Given the description of an element on the screen output the (x, y) to click on. 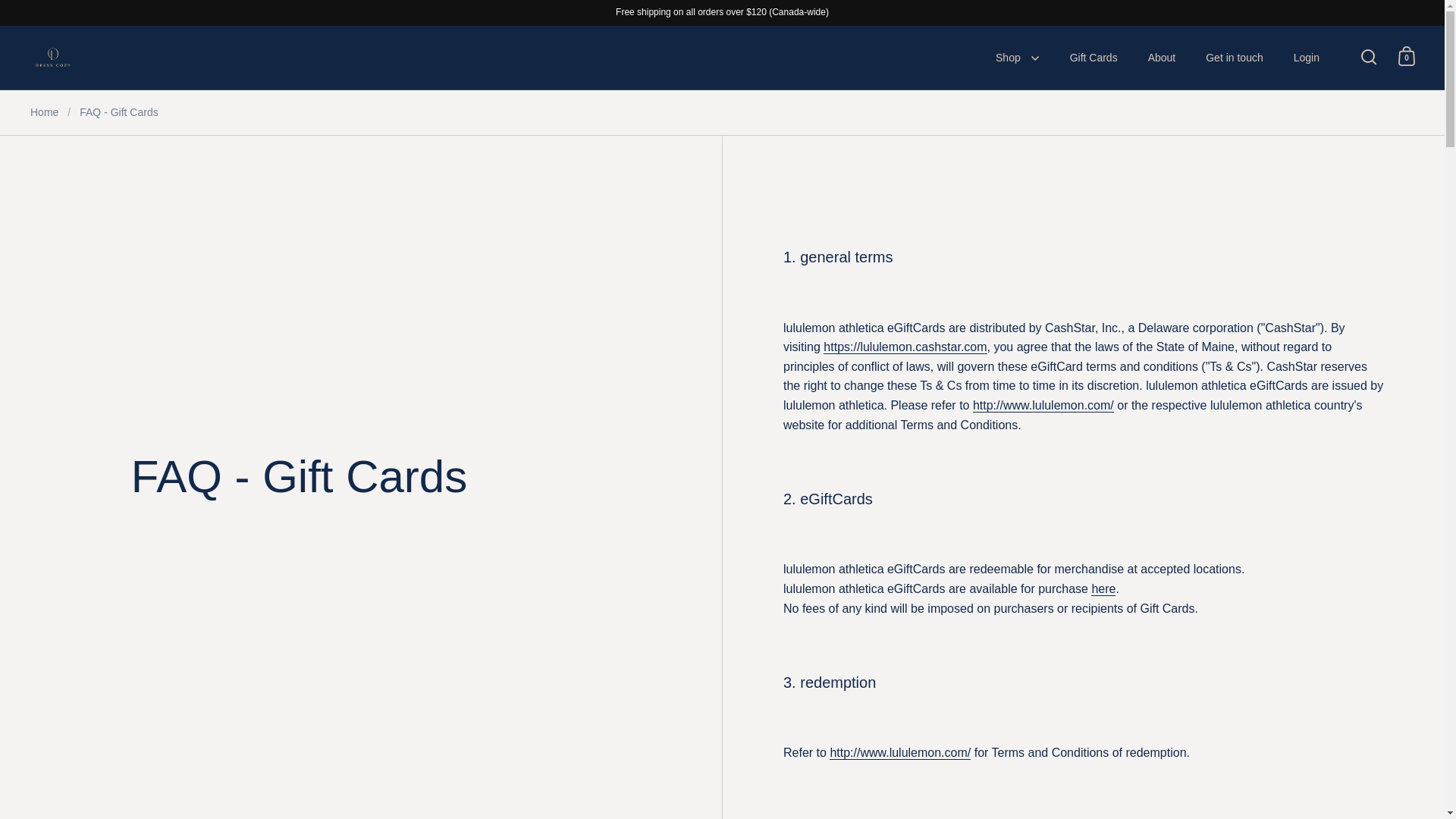
Login (1306, 57)
here (1102, 589)
Open search (1369, 55)
Gift Cards (1093, 57)
Open cart (1406, 55)
About (1161, 57)
Home (44, 111)
Shop (1016, 57)
Open cart (1406, 55)
Get in touch (1234, 57)
0 (1406, 55)
